Given the description of an element on the screen output the (x, y) to click on. 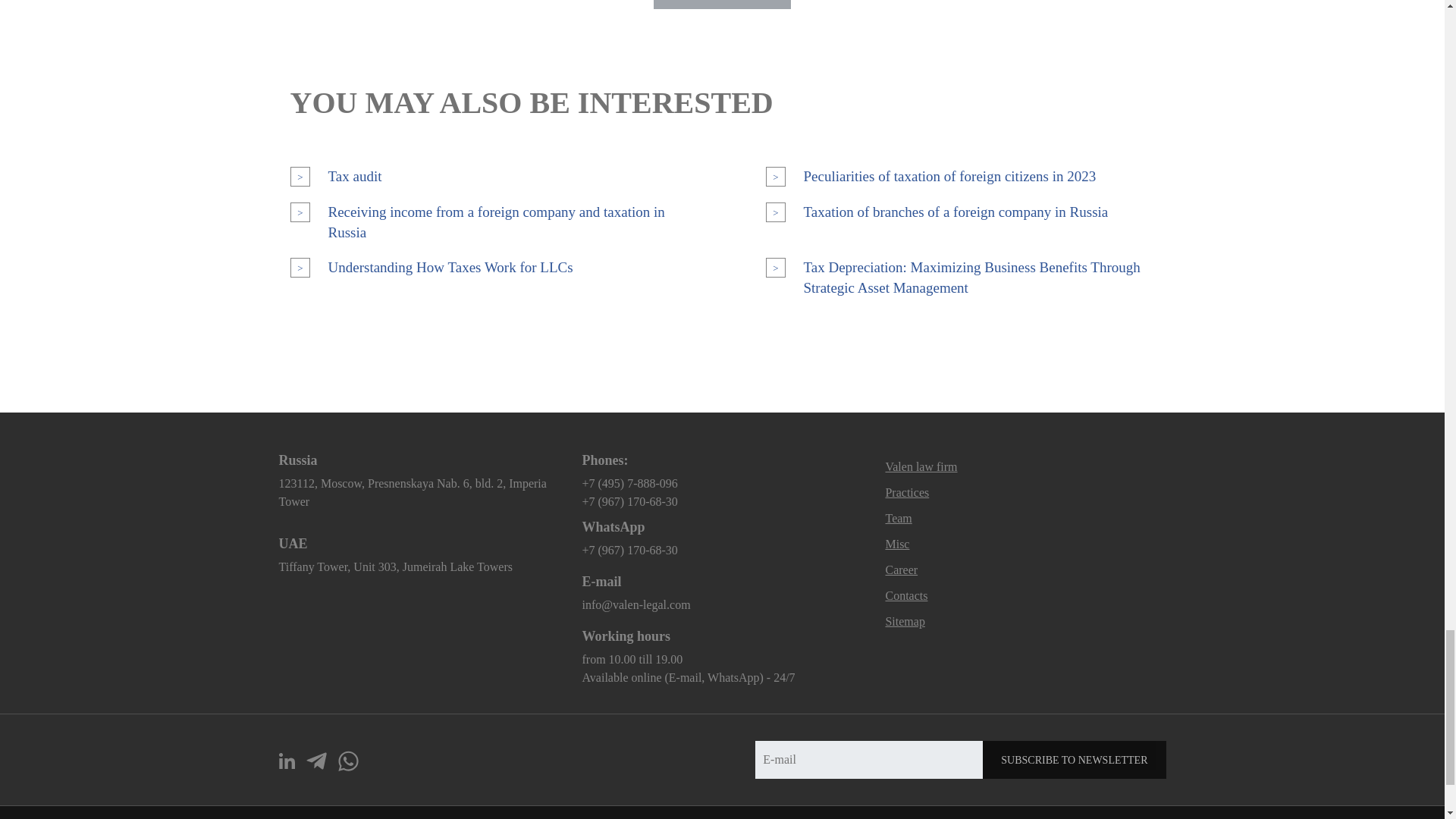
Subscribe to newsletter (1074, 759)
